Given the description of an element on the screen output the (x, y) to click on. 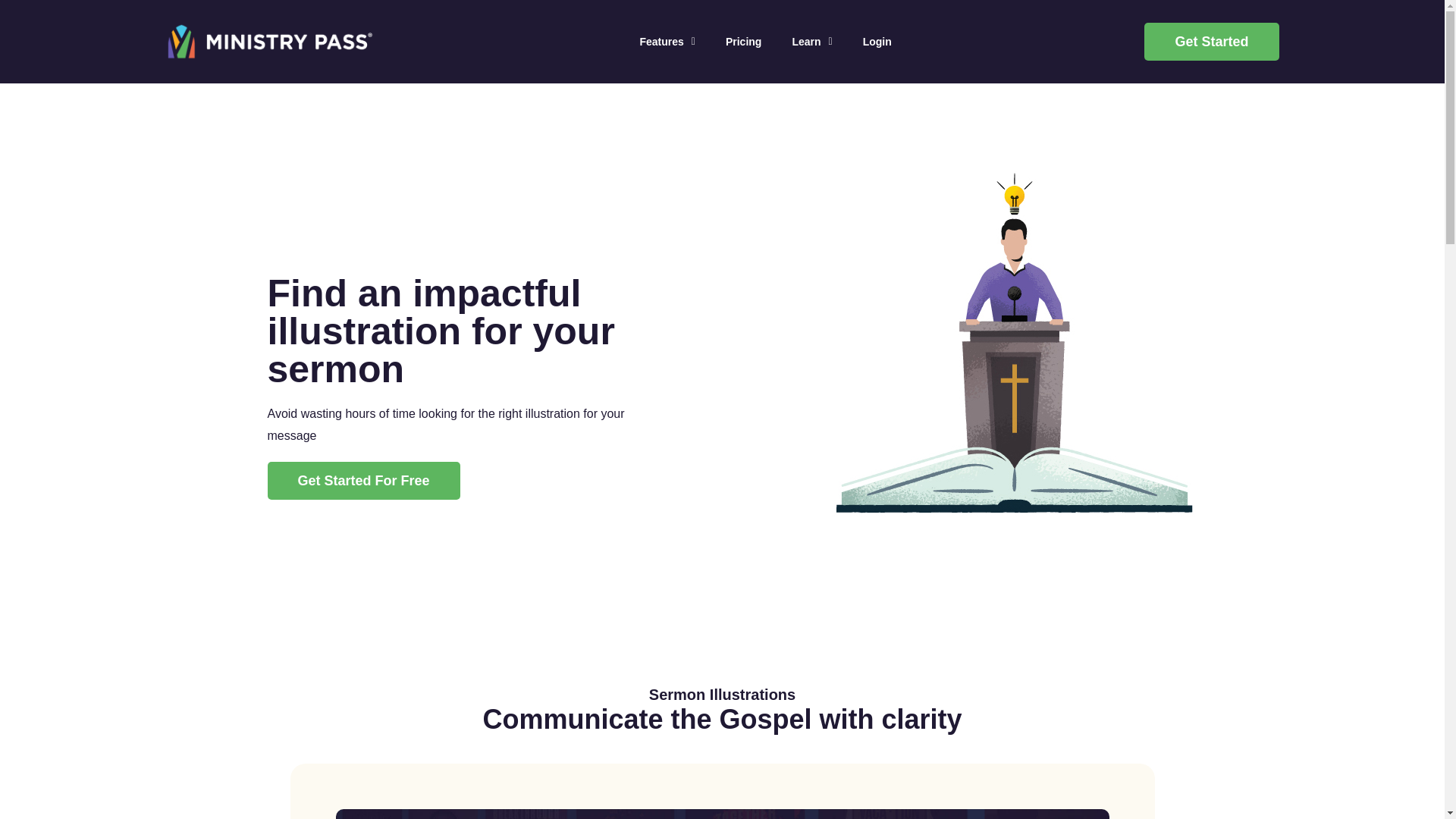
Features (666, 41)
Get Started For Free (363, 480)
Pricing (743, 41)
Learn (811, 41)
Get Started (1211, 41)
